Given the description of an element on the screen output the (x, y) to click on. 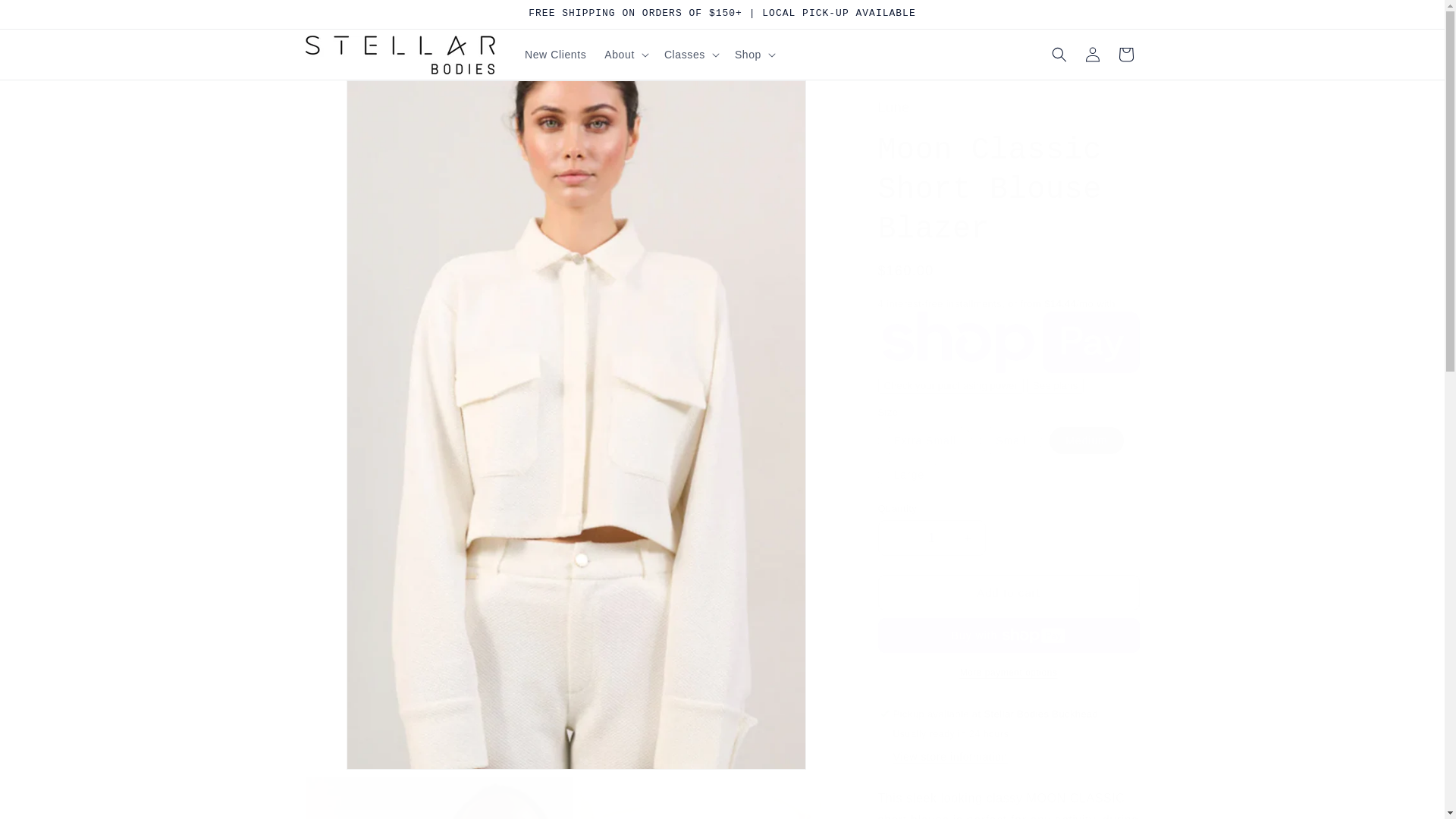
Open media 3 in modal (713, 797)
Skip to content (45, 17)
Open media 2 in modal (438, 797)
1 (931, 538)
